Given the description of an element on the screen output the (x, y) to click on. 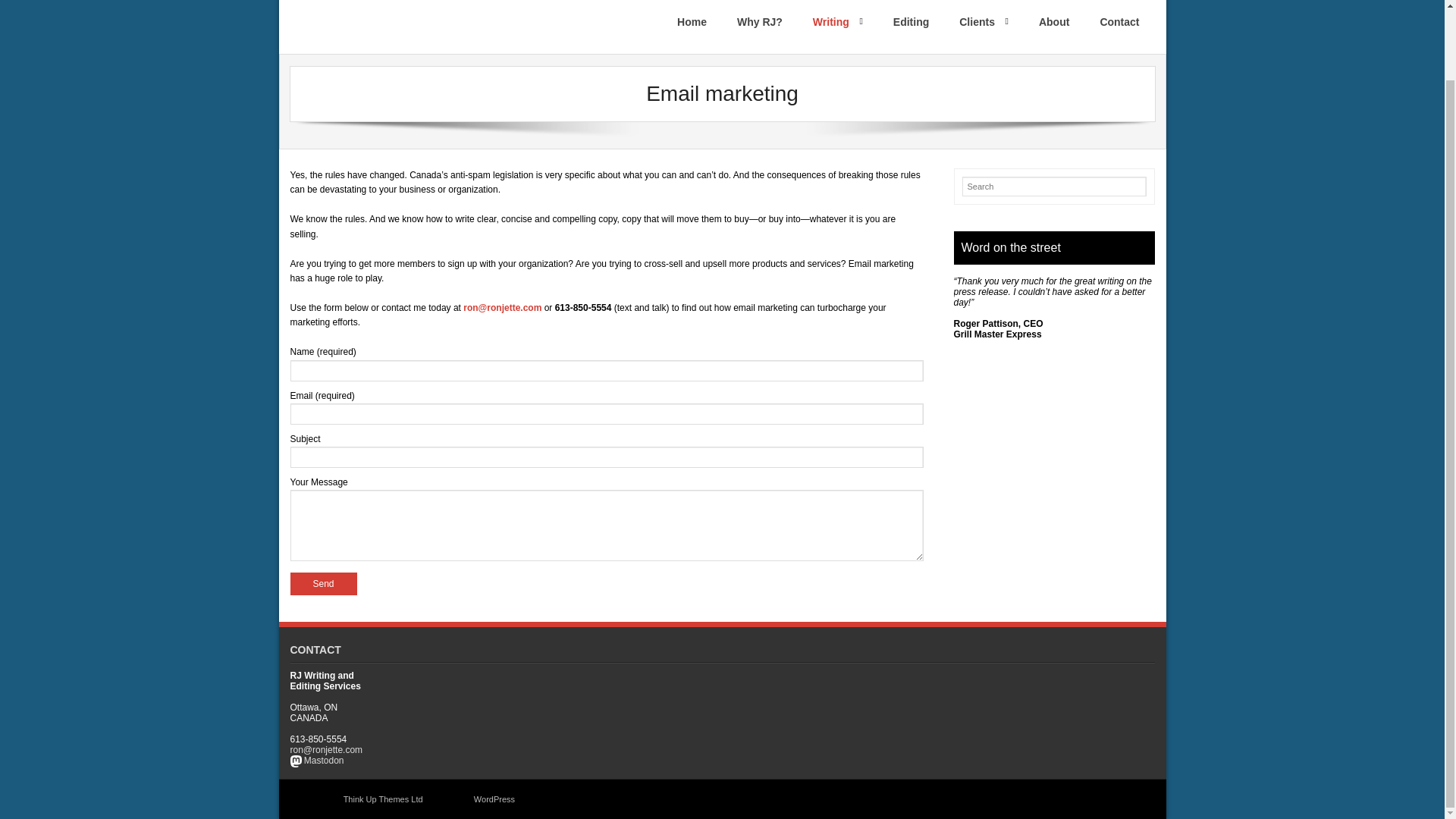
About (1053, 27)
Clients (983, 27)
Contact (1119, 27)
Home (692, 27)
Writing (837, 27)
Why RJ? (759, 27)
Editing (910, 27)
Send (322, 583)
